Given the description of an element on the screen output the (x, y) to click on. 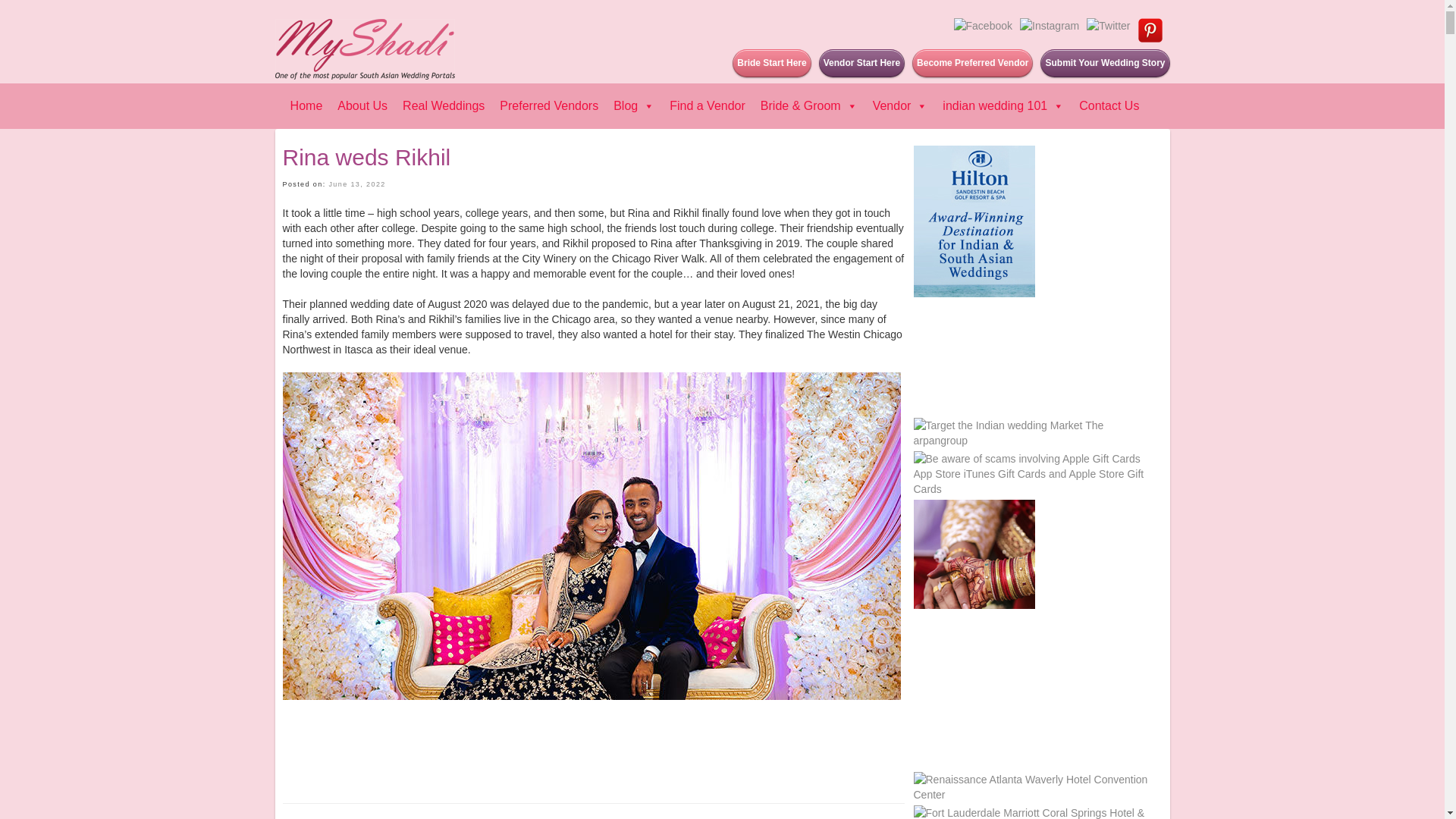
Submit Your Wedding Story (1105, 62)
Myshadi (364, 48)
Vendor Start Here (861, 62)
Monday, June 13th, 2022, 1:13 pm (357, 184)
Twitter (1107, 25)
Bride Start Here (771, 62)
Instagram (1049, 25)
Become Preferred Vendor (972, 62)
pinterest (1149, 30)
Facebook (982, 25)
